Given the description of an element on the screen output the (x, y) to click on. 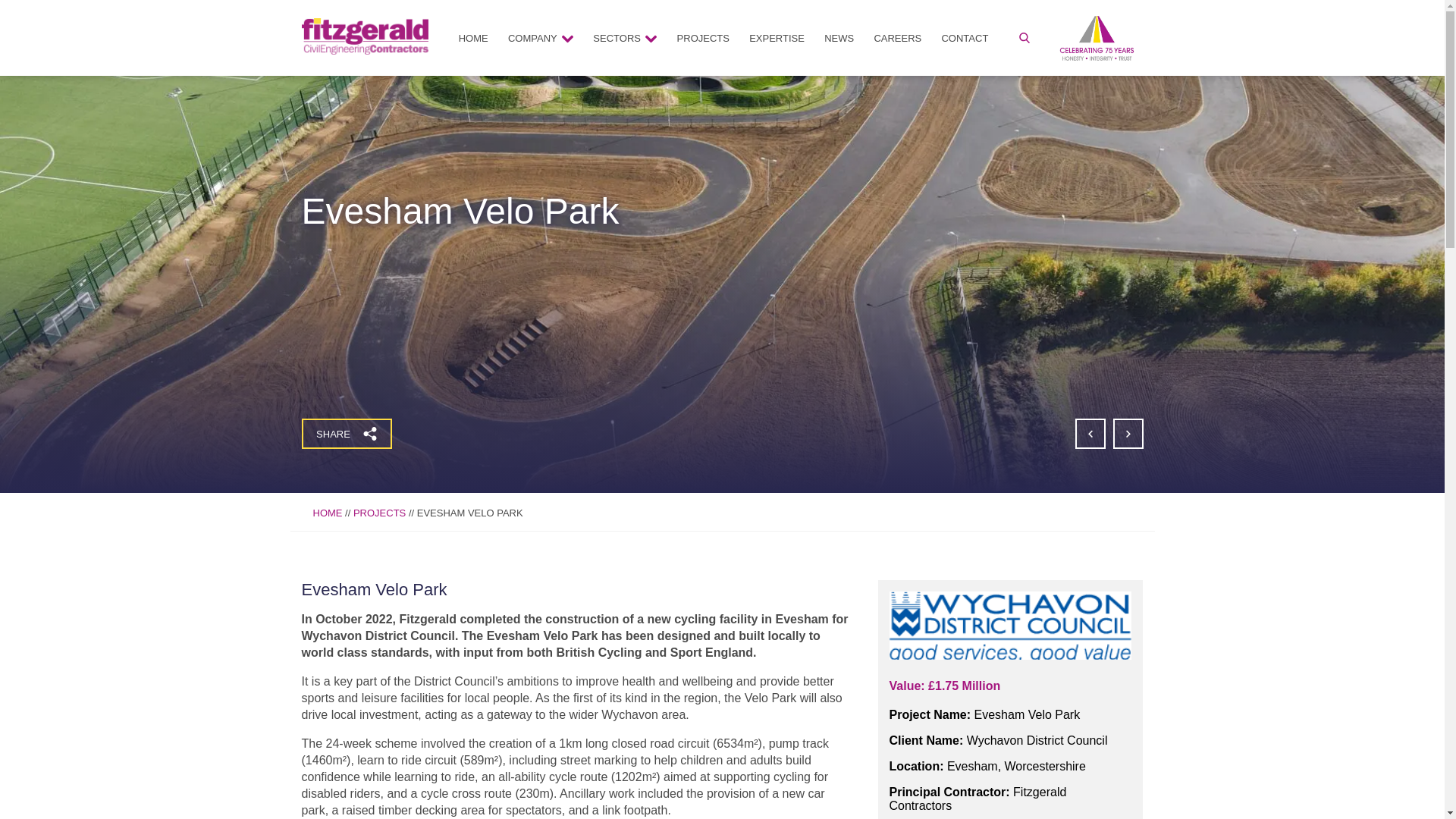
PROJECTS (379, 512)
SECTORS (625, 38)
CAREERS (897, 38)
HOME (472, 38)
PROJECTS (703, 38)
SHARE (346, 433)
CONTACT (964, 38)
EXPERTISE (776, 38)
NEWS (838, 38)
COMPANY (540, 38)
HOME (327, 512)
